Given the description of an element on the screen output the (x, y) to click on. 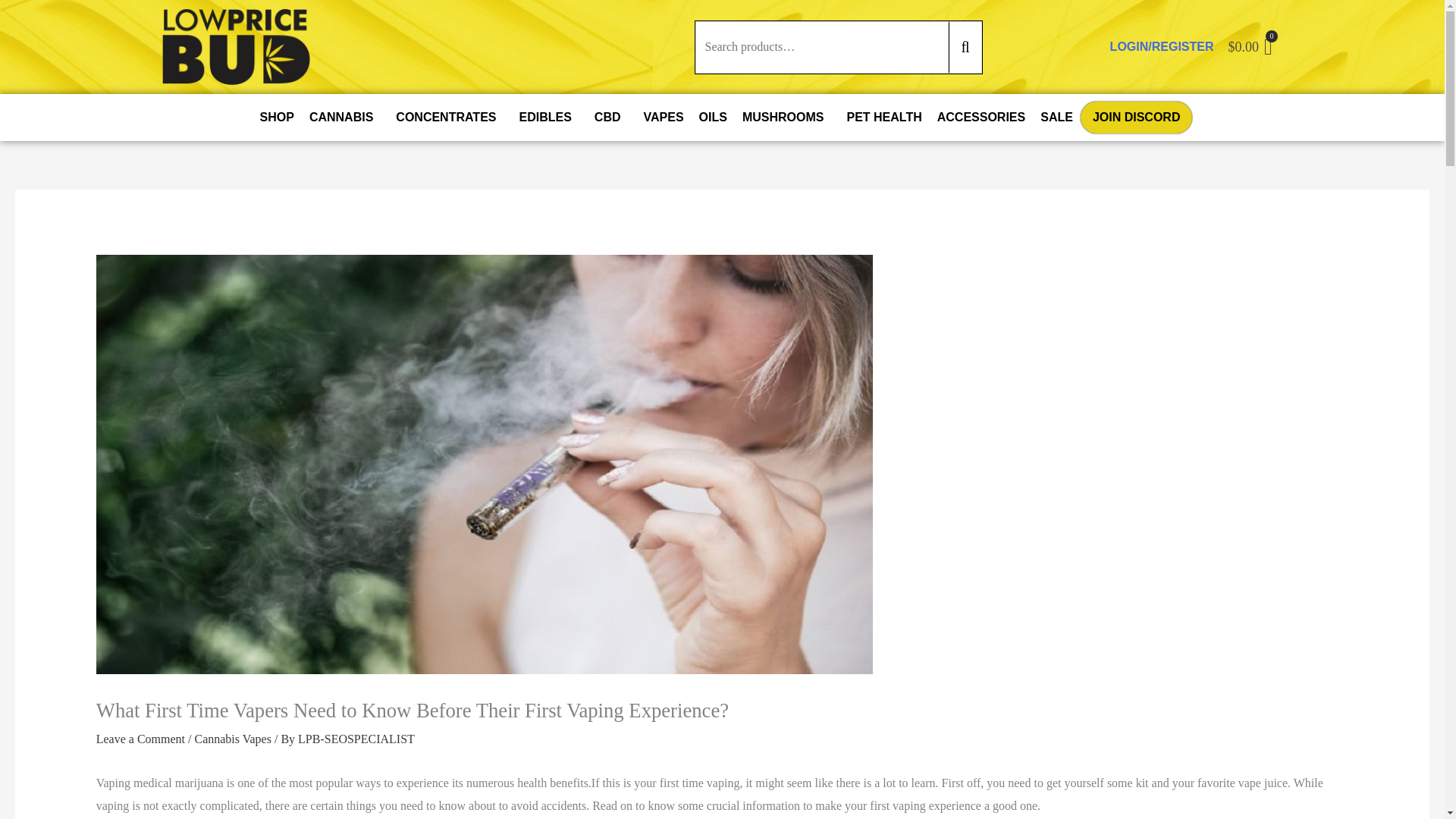
CANNABIS (344, 117)
View all posts by LPB-SEOSPECIALIST (356, 738)
SHOP (276, 117)
EDIBLES (548, 117)
CONCENTRATES (449, 117)
